Given the description of an element on the screen output the (x, y) to click on. 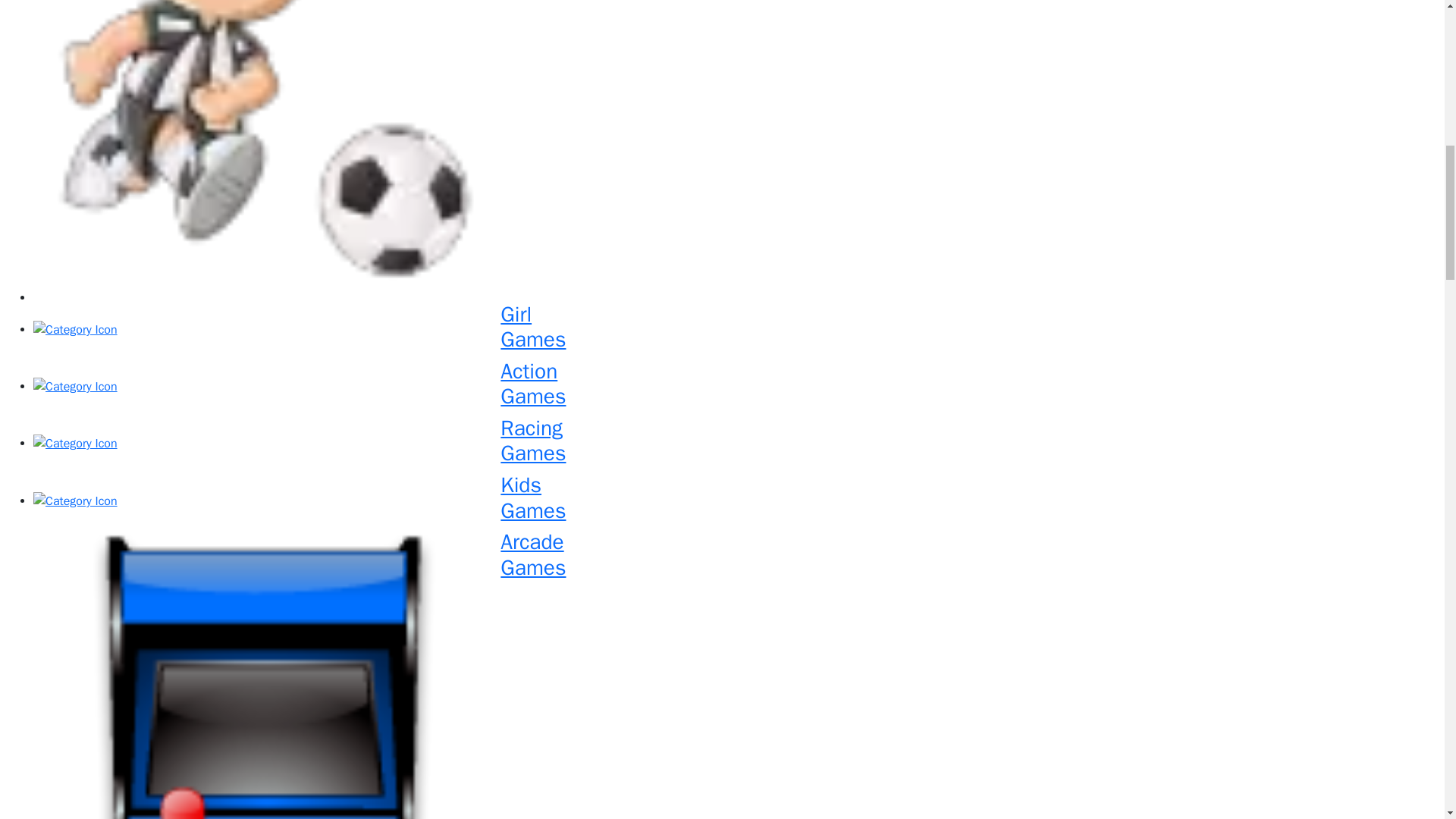
Boy Games  (734, 443)
Arcade Games  (734, 443)
